Given the description of an element on the screen output the (x, y) to click on. 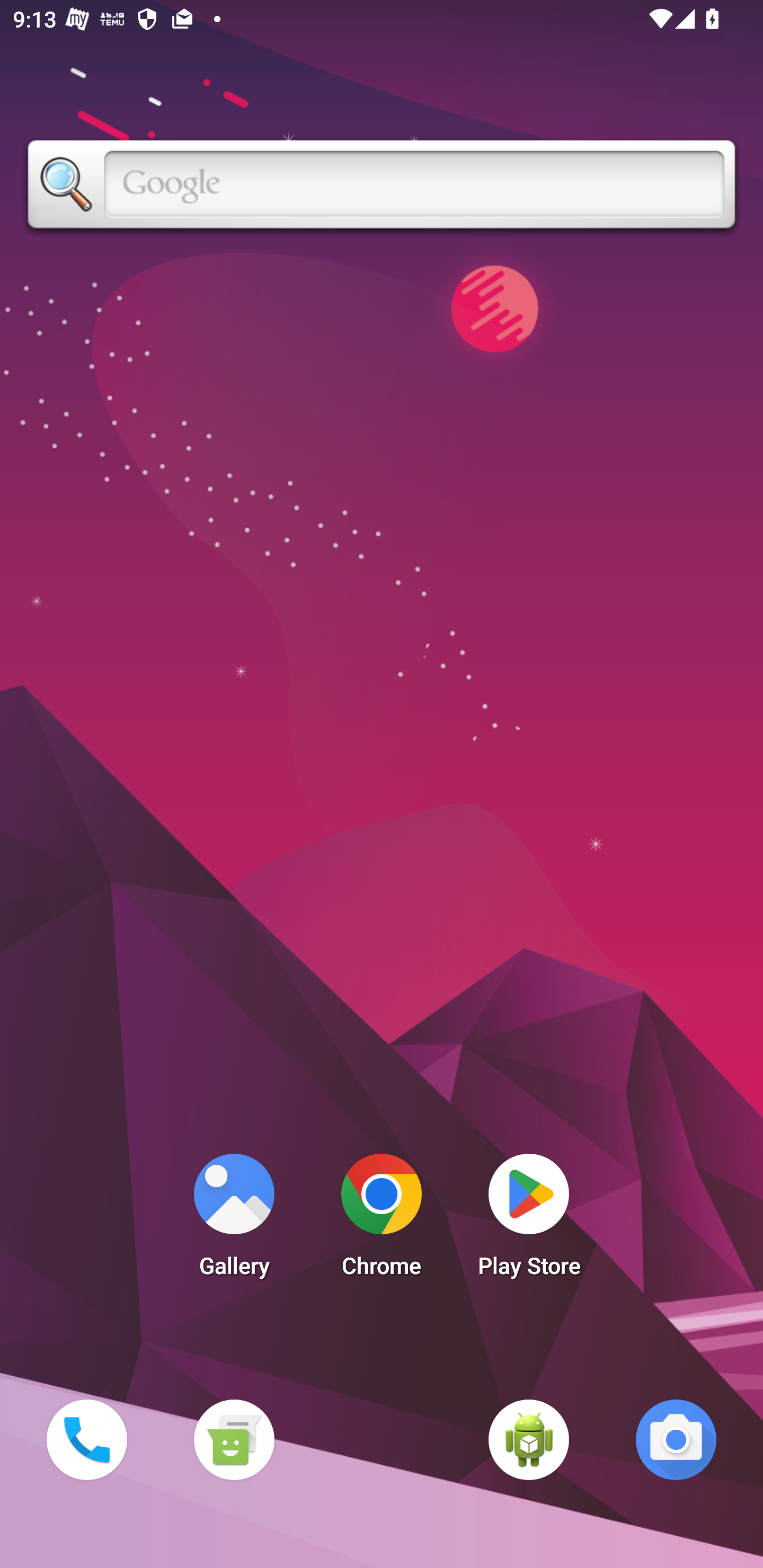
Gallery (233, 1220)
Chrome (381, 1220)
Play Store (528, 1220)
Phone (86, 1439)
Messaging (233, 1439)
WebView Browser Tester (528, 1439)
Camera (676, 1439)
